Given the description of an element on the screen output the (x, y) to click on. 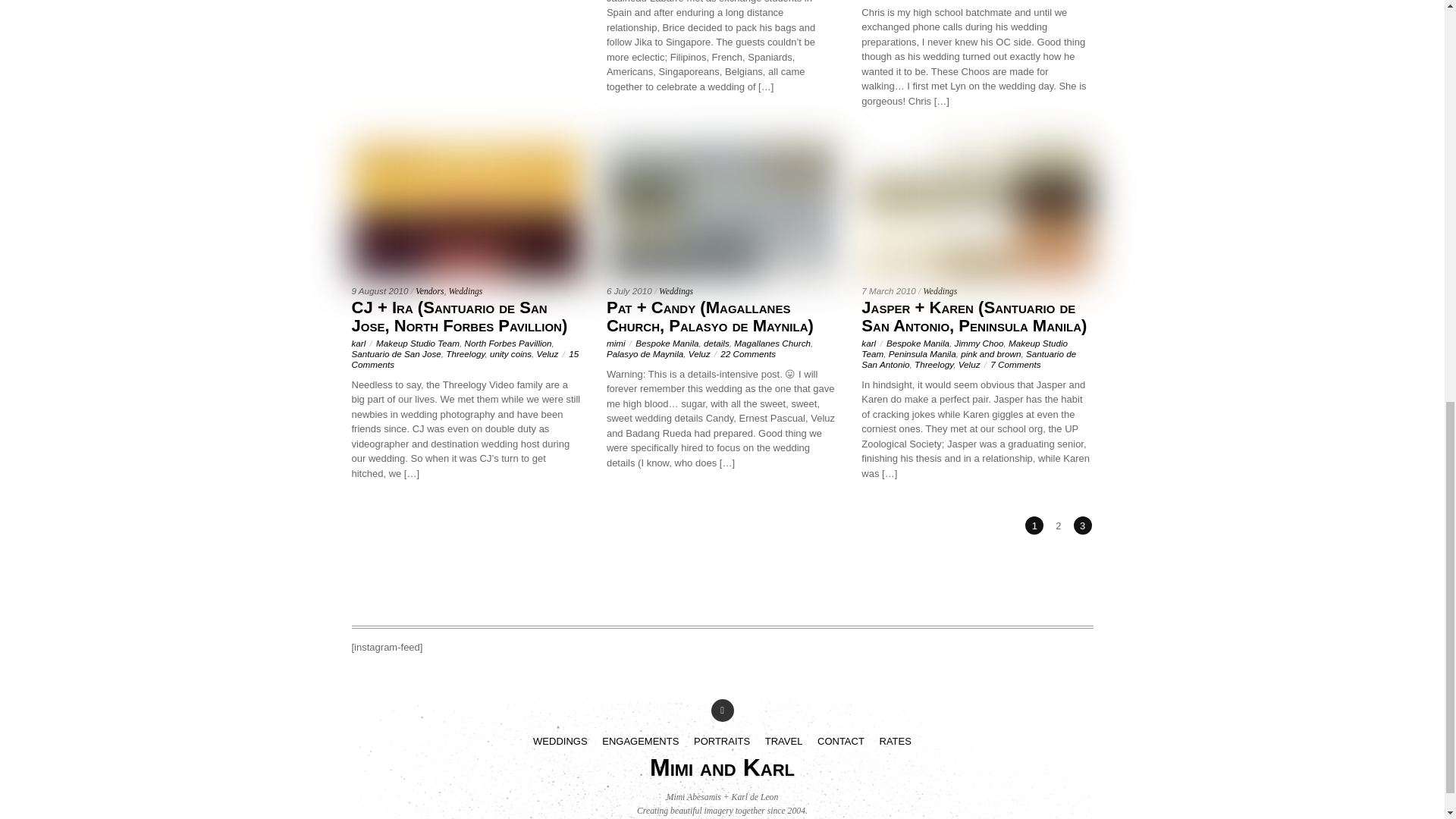
Mimi and Karl (721, 767)
ira-031 (467, 212)
candy003 (722, 212)
jasper08 (977, 212)
